Given the description of an element on the screen output the (x, y) to click on. 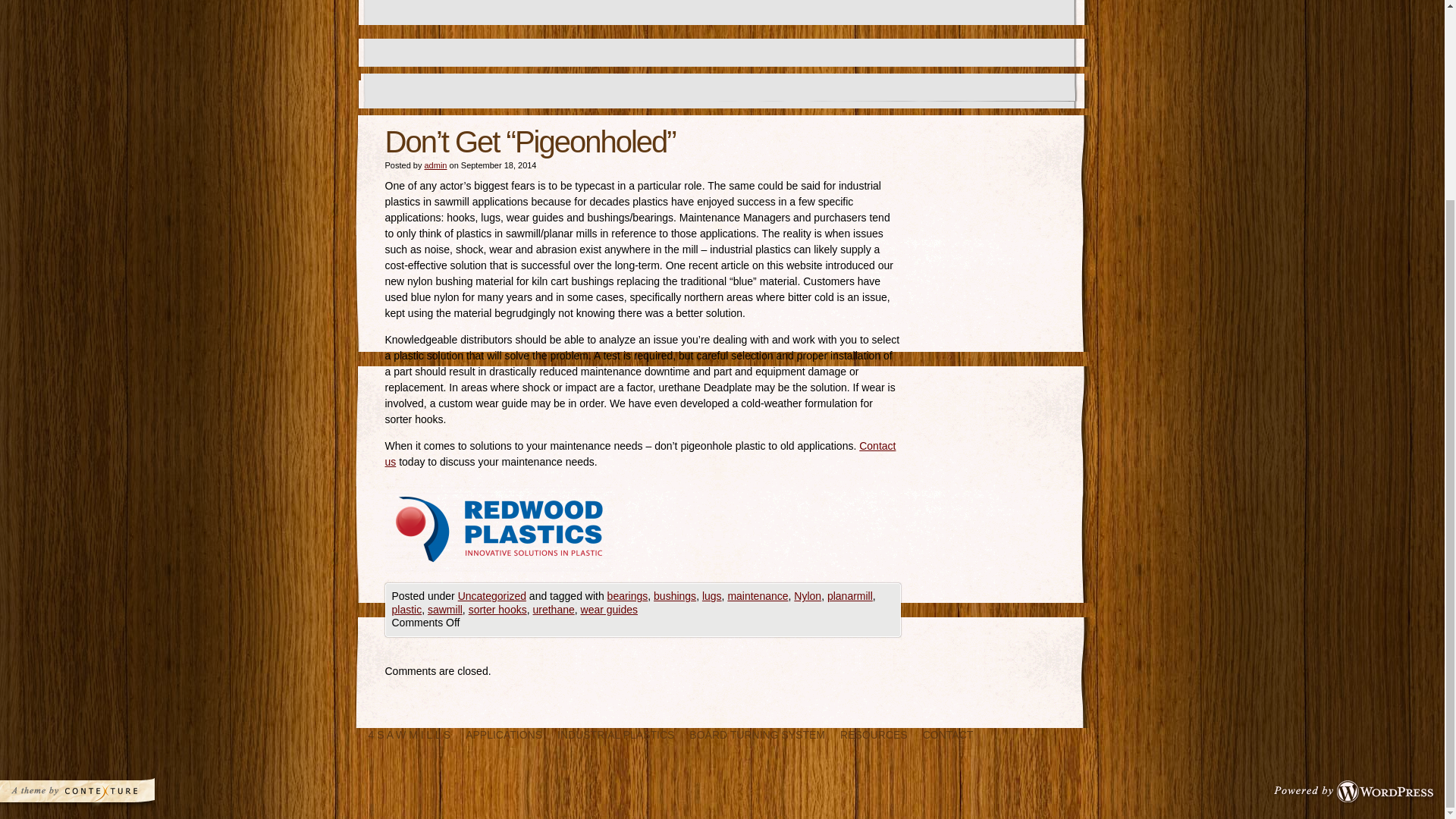
4 S A W M I L L S (409, 735)
plastic (406, 609)
sawmill (445, 609)
maintenance (756, 595)
Contact Redwood Plastics (640, 453)
lugs (711, 595)
Posts by admin (434, 164)
Contact us (640, 453)
INDUSTRIAL PLASTICS (615, 735)
sorter hooks (497, 609)
